Given the description of an element on the screen output the (x, y) to click on. 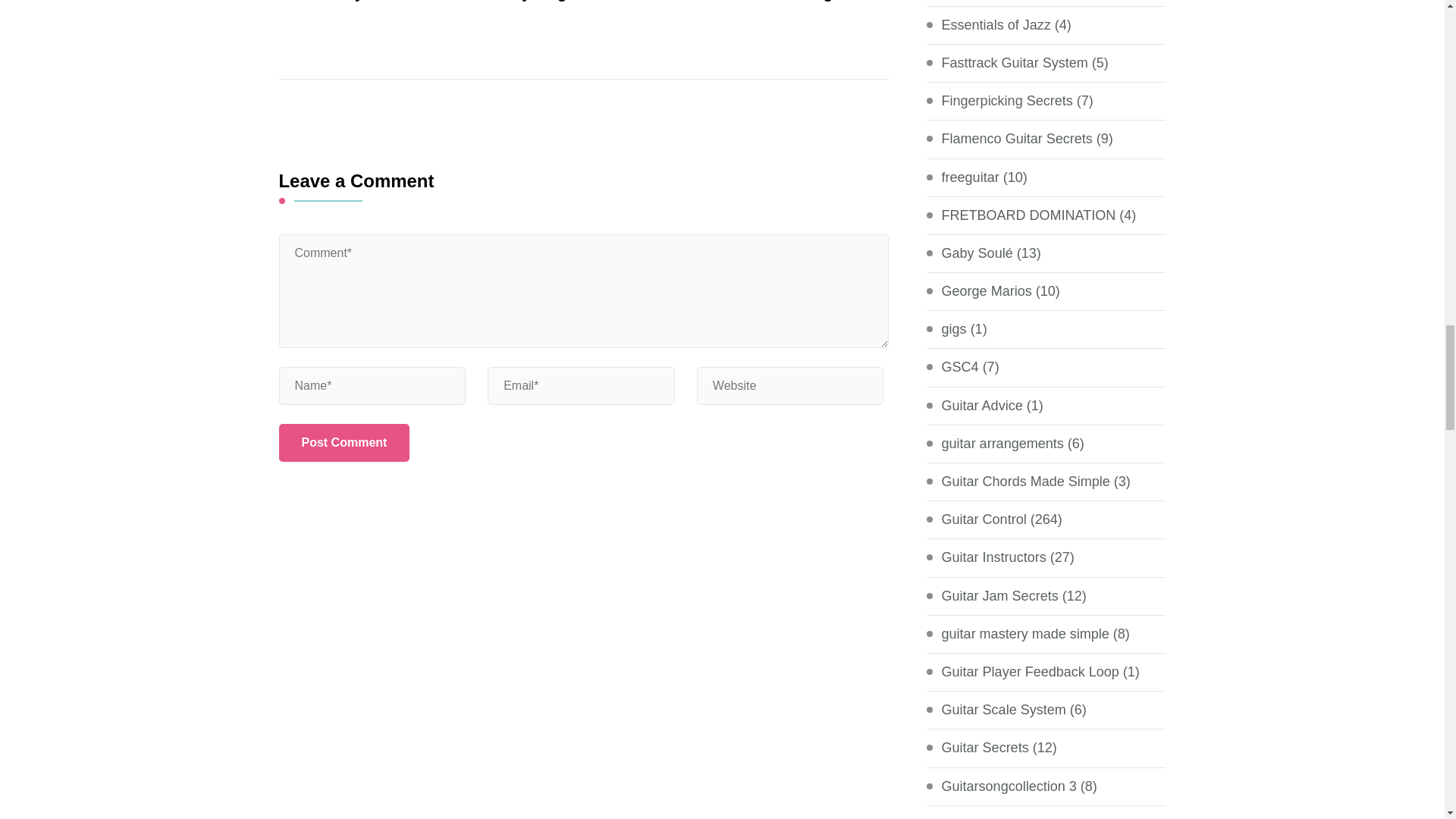
Post Comment (344, 442)
New rhythm guitar lesson on my blog (581, 1)
Post Comment (344, 442)
